Given the description of an element on the screen output the (x, y) to click on. 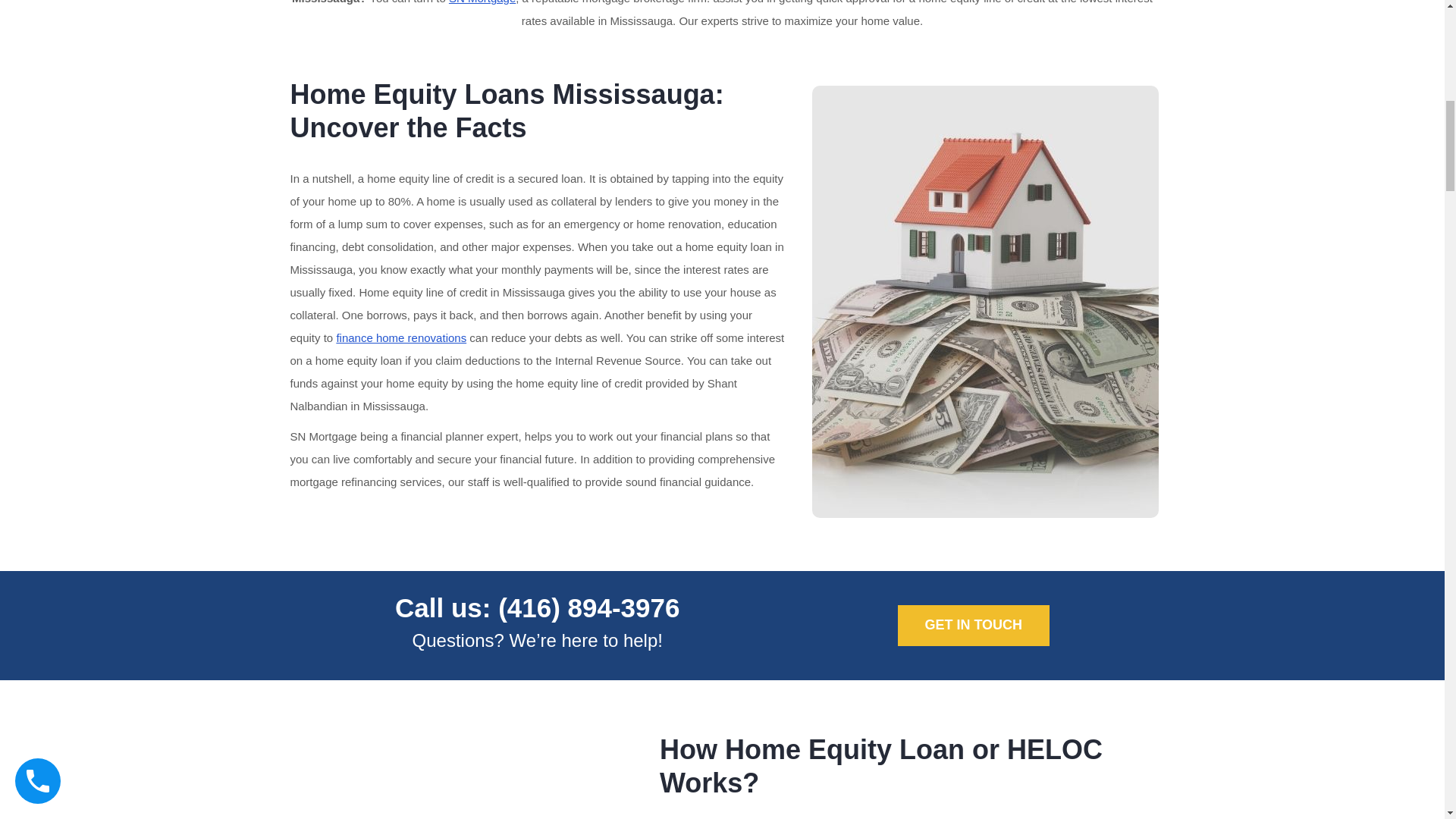
SN Mortgage (481, 2)
finance home renovations (400, 337)
GET IN TOUCH (973, 625)
